Given the description of an element on the screen output the (x, y) to click on. 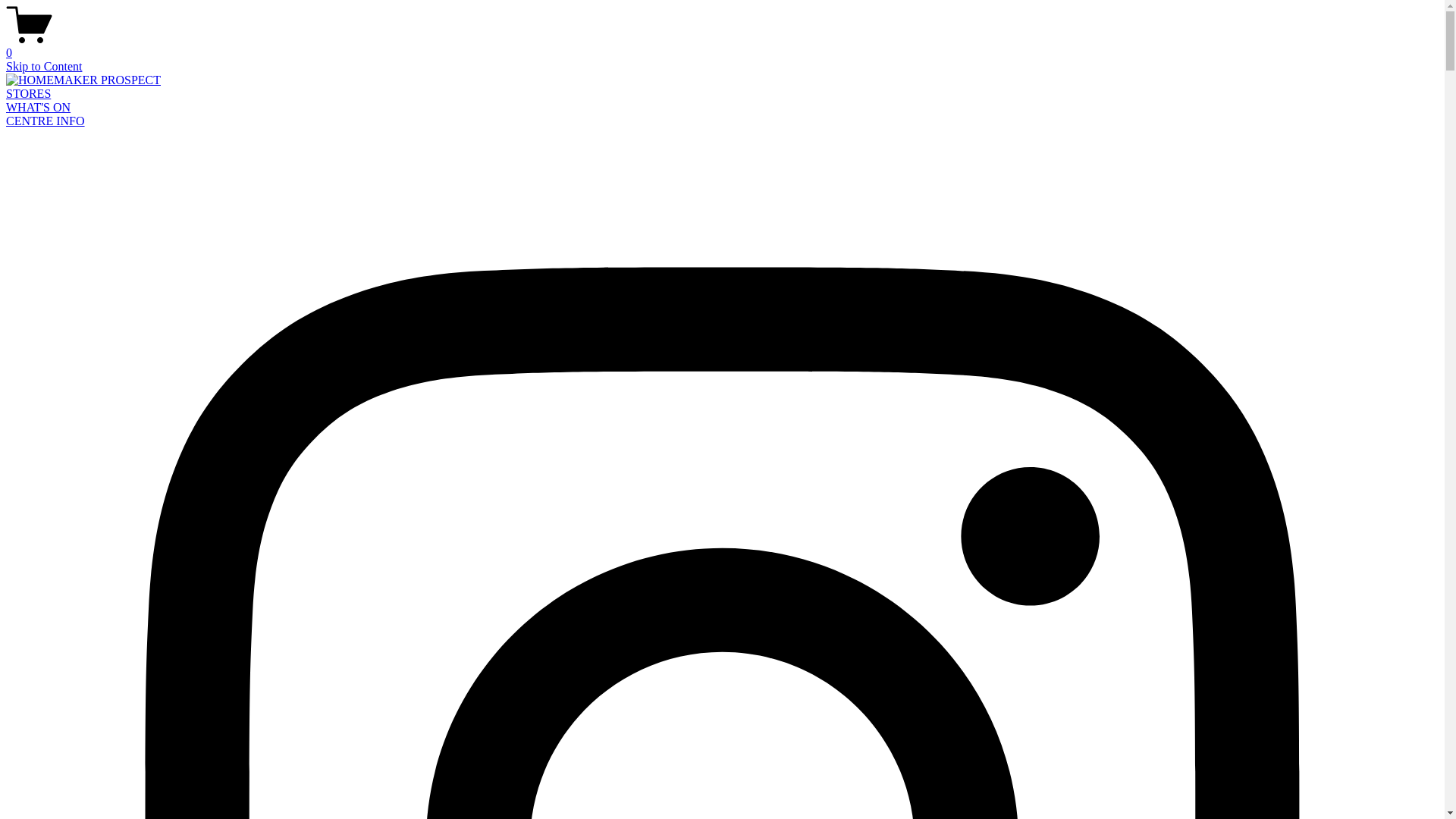
WHAT'S ON Element type: text (38, 106)
CENTRE INFO Element type: text (45, 120)
Skip to Content Element type: text (43, 65)
0 Element type: text (722, 45)
STORES Element type: text (28, 93)
